Given the description of an element on the screen output the (x, y) to click on. 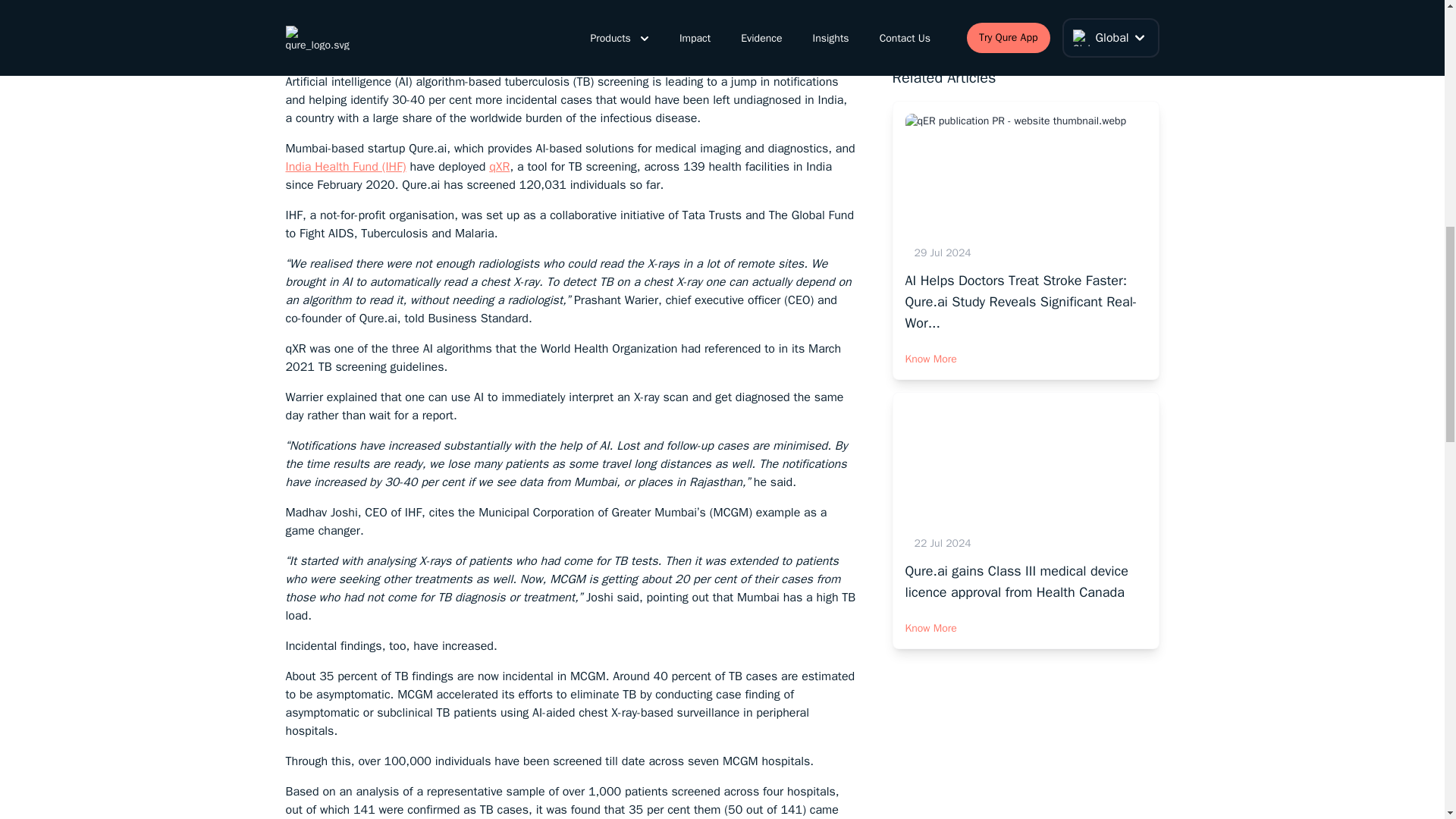
Know More (1026, 349)
qXR (499, 166)
Know More (1026, 619)
